Given the description of an element on the screen output the (x, y) to click on. 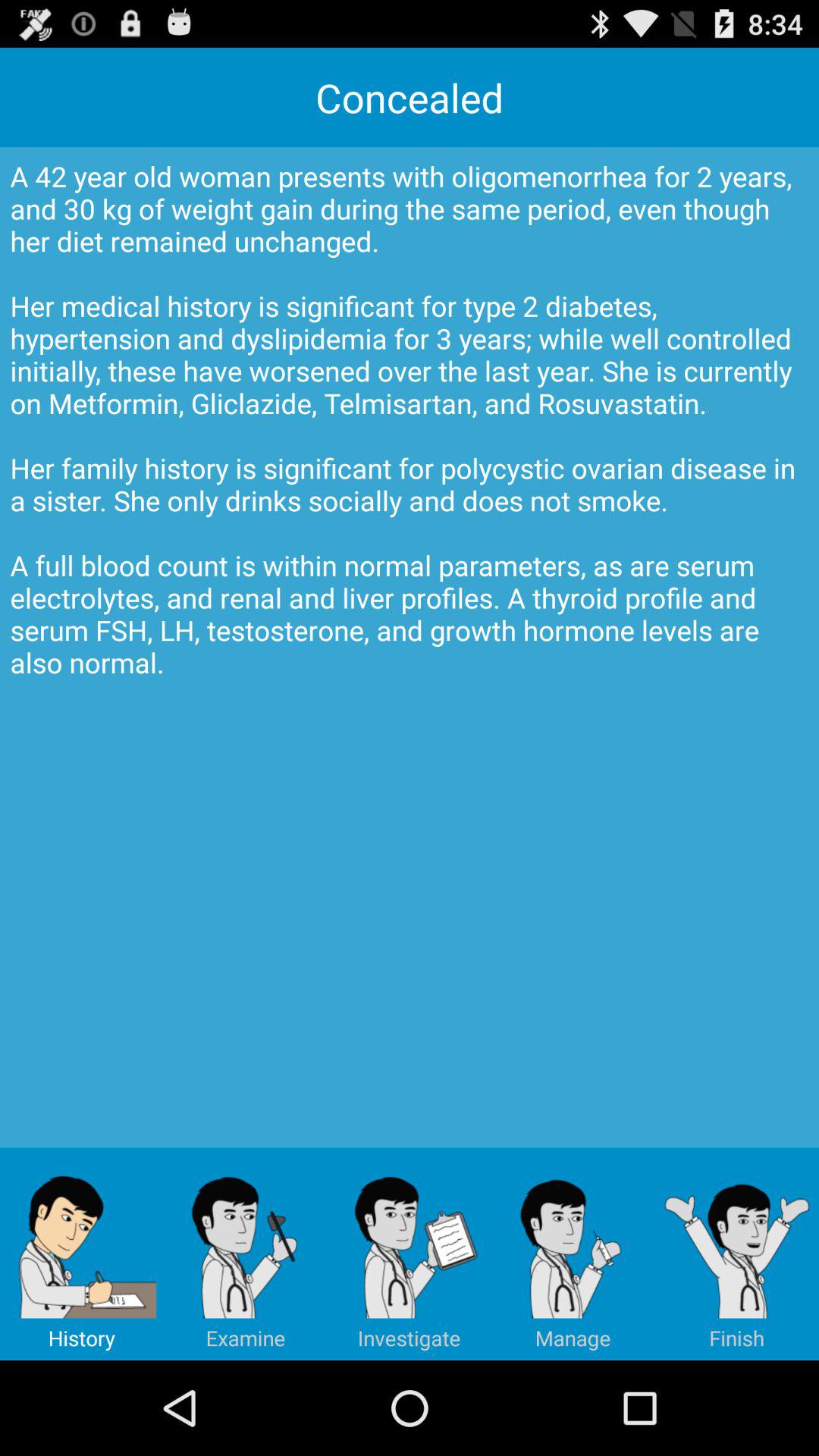
press icon below a 42 year (409, 1253)
